Given the description of an element on the screen output the (x, y) to click on. 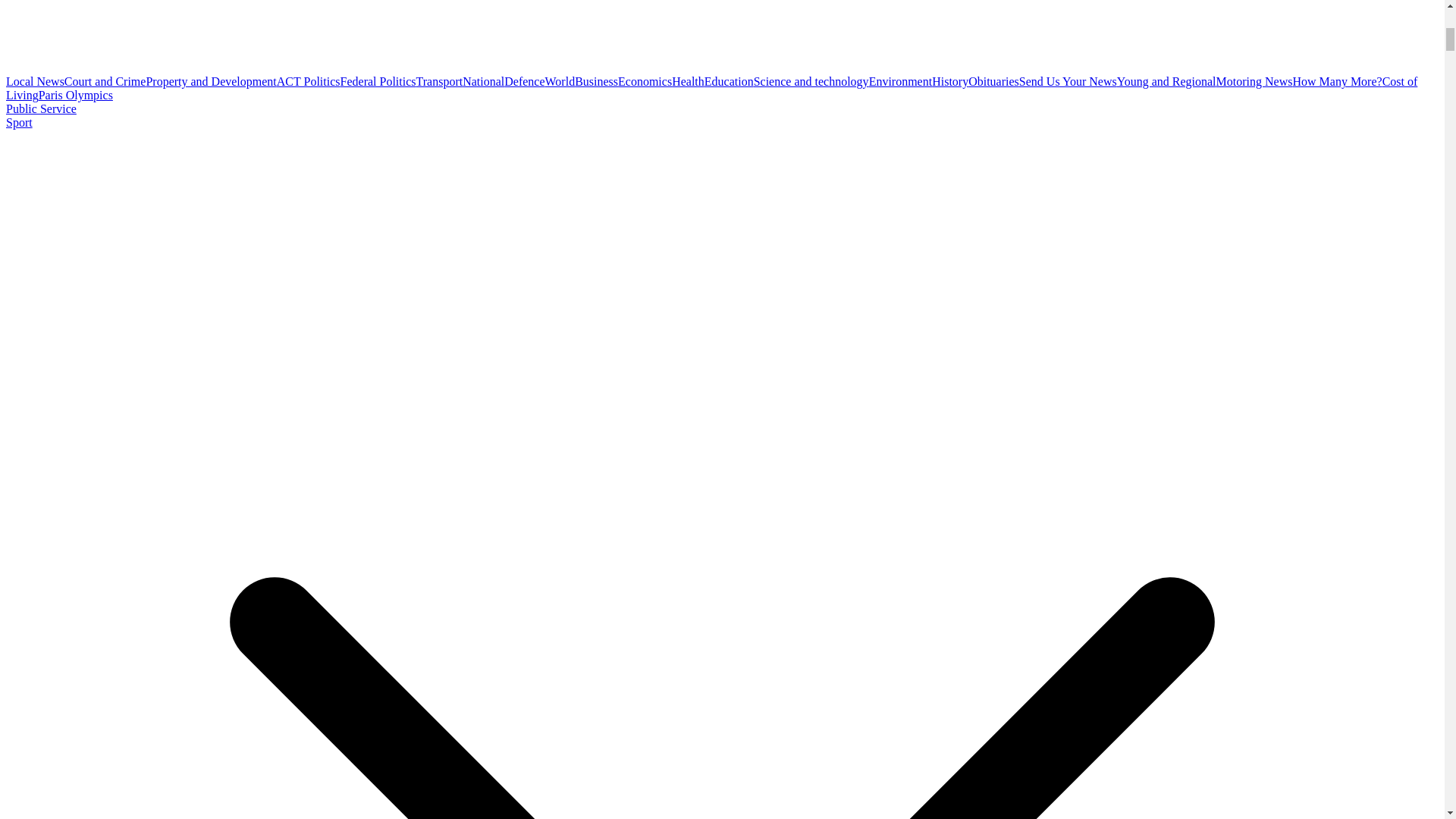
Cost of Living (710, 88)
National (483, 81)
History (949, 81)
Environment (901, 81)
Obituaries (993, 81)
Paris Olympics (76, 94)
Court and Crime (105, 81)
Economics (644, 81)
Send Us Your News (1067, 81)
Public Service (41, 108)
Education (729, 81)
ACT Politics (308, 81)
World (559, 81)
Local News (34, 81)
Motoring News (1253, 81)
